Given the description of an element on the screen output the (x, y) to click on. 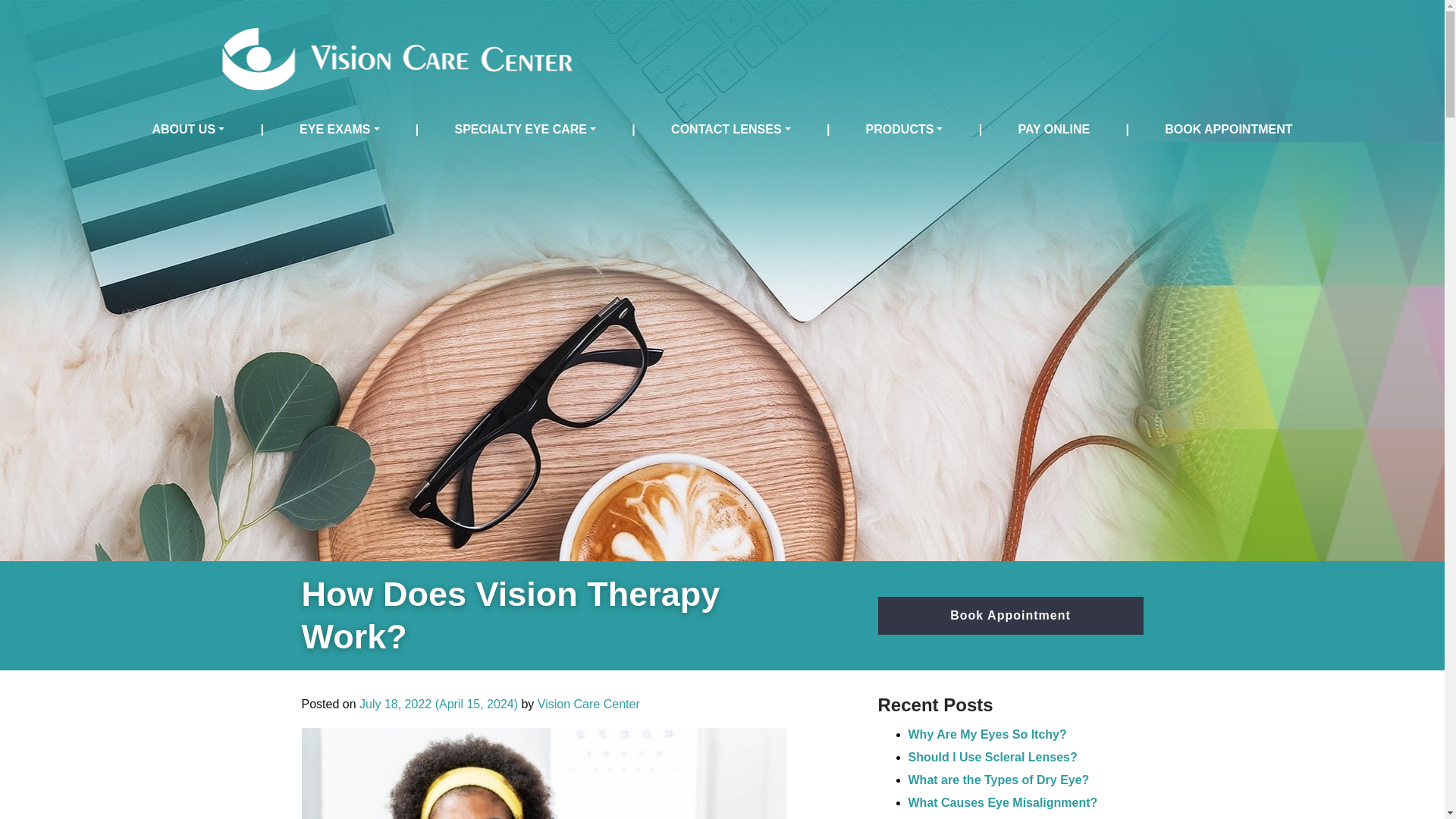
PAY ONLINE (1053, 129)
Specialty Eye Care (525, 129)
Eye Exams (339, 129)
Contact Lenses (730, 129)
Book Appointment (1009, 615)
Vision Care Center (588, 703)
EYE EXAMS (339, 129)
ABOUT US (187, 129)
CONTACT LENSES (730, 129)
SPECIALTY EYE CARE (525, 129)
